Given the description of an element on the screen output the (x, y) to click on. 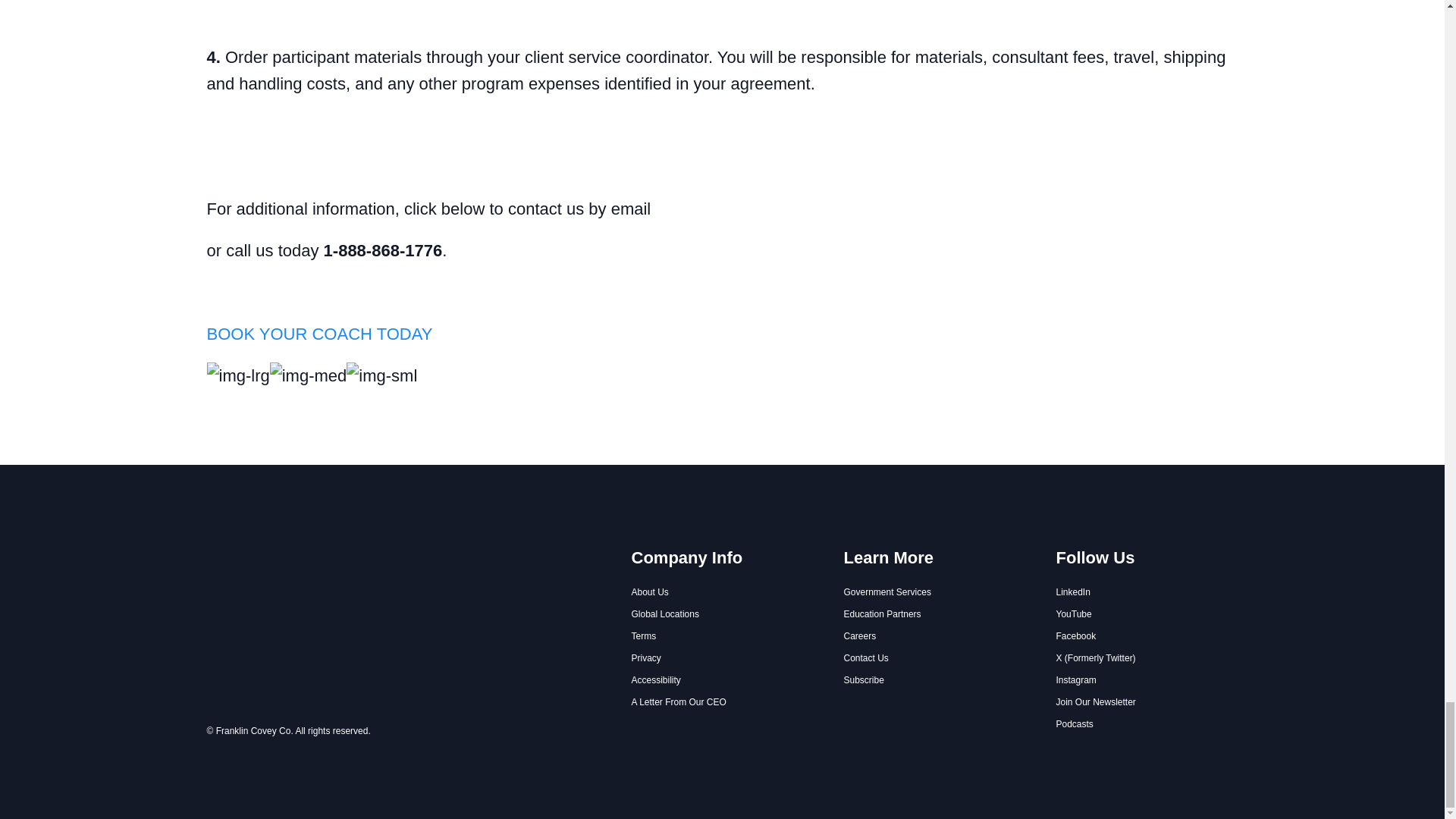
BOOK YOUR COACH TODAY (319, 333)
